Given the description of an element on the screen output the (x, y) to click on. 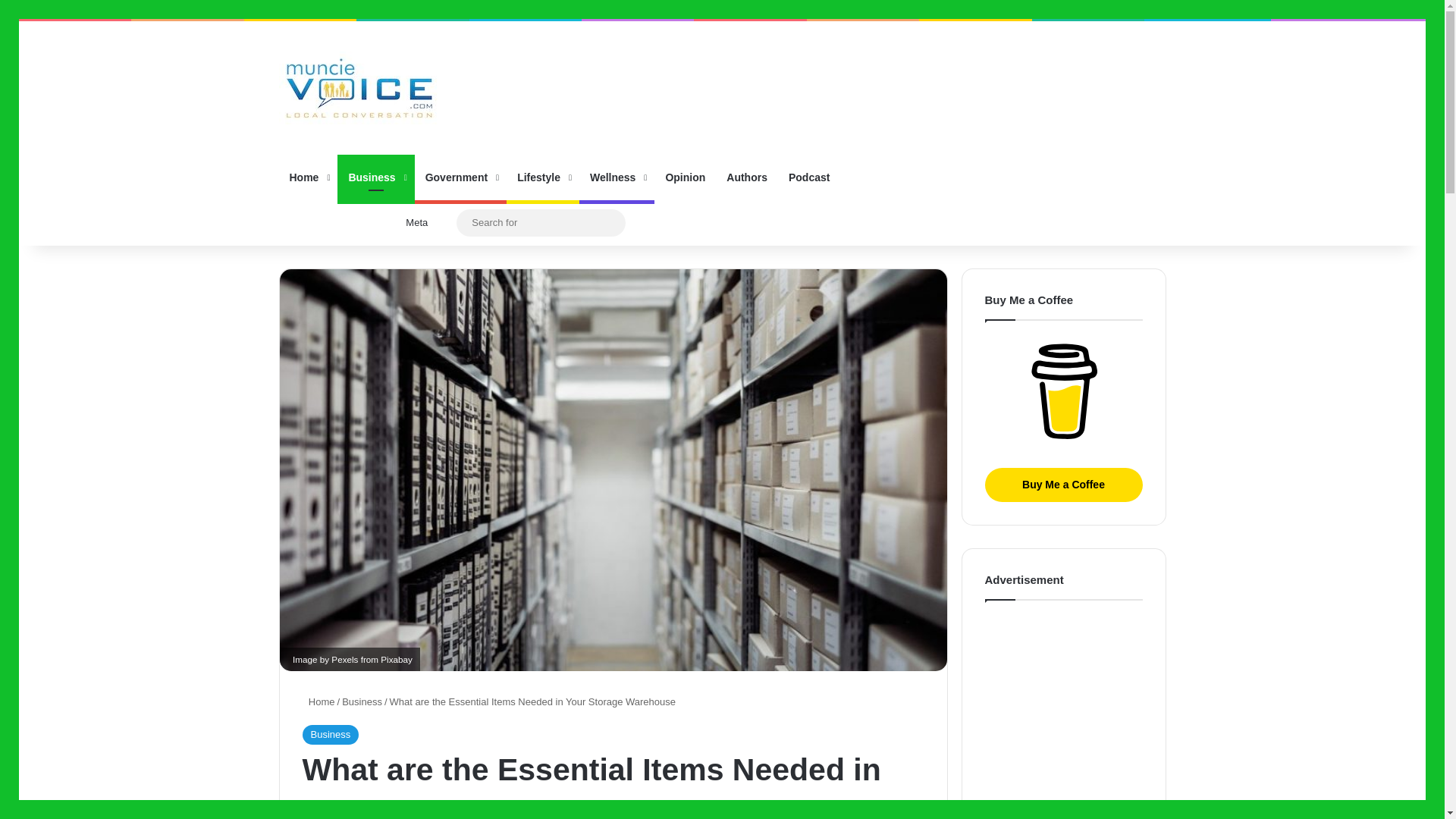
Lifestyle (542, 176)
Search for (610, 222)
Podcast (808, 176)
Business (375, 176)
Search for (541, 221)
Authors (746, 176)
Home (317, 701)
Business (361, 701)
Opinion (684, 176)
Muncie Voice (359, 87)
Business (329, 734)
Government (460, 176)
Wellness (616, 176)
Home (308, 176)
